Given the description of an element on the screen output the (x, y) to click on. 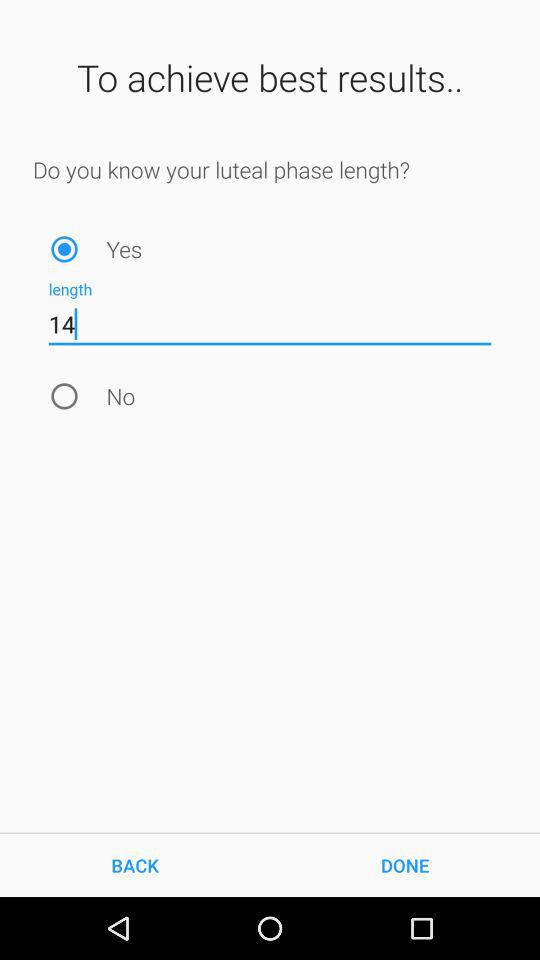
launch the item to the left of done icon (135, 864)
